Given the description of an element on the screen output the (x, y) to click on. 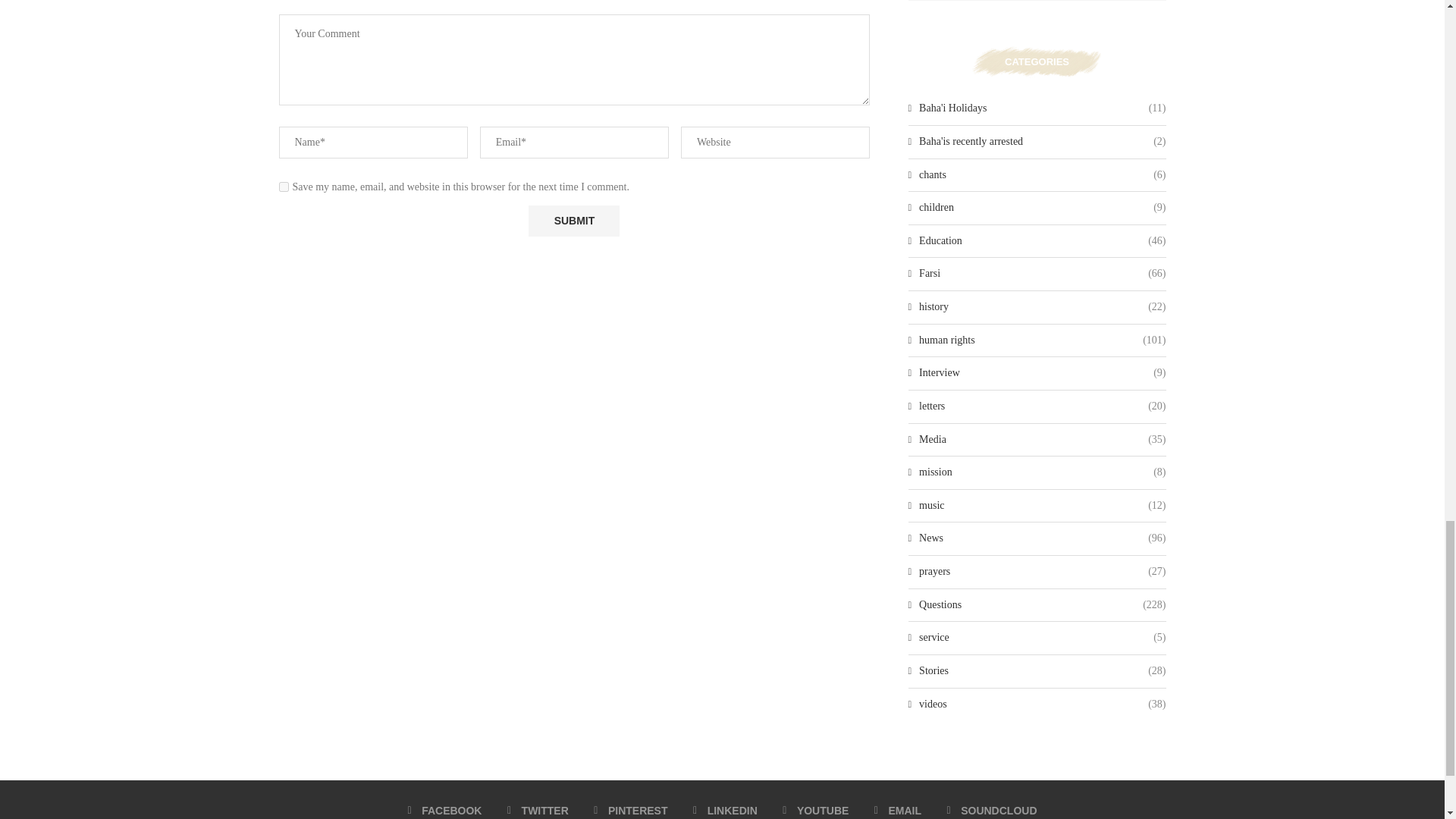
Submit (574, 220)
yes (283, 186)
